Given the description of an element on the screen output the (x, y) to click on. 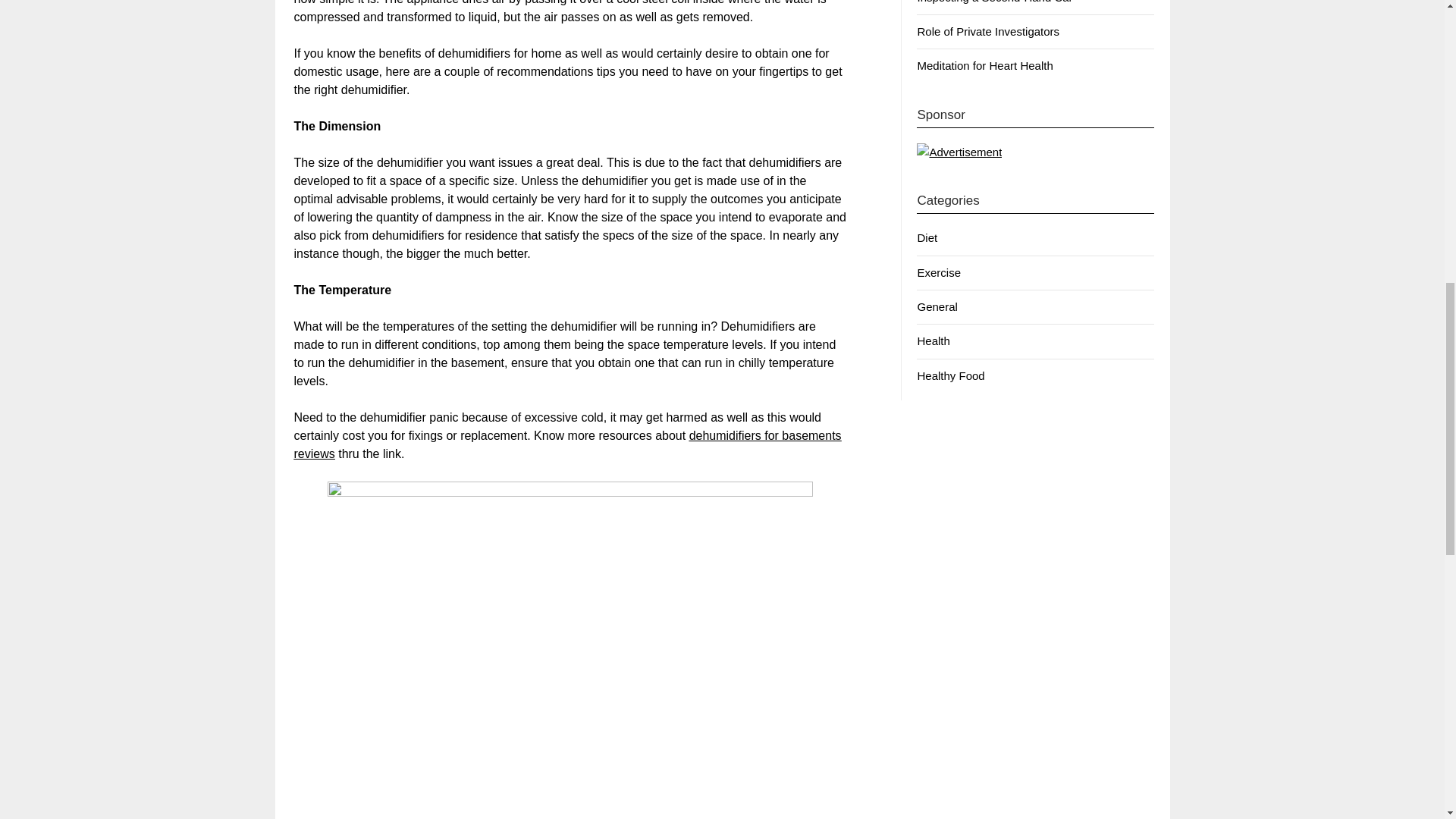
Diet (927, 237)
Health (933, 340)
General (936, 306)
Meditation for Heart Health (984, 65)
Role of Private Investigators (988, 31)
dehumidifiers for basements reviews (567, 444)
Inspecting a Second-Hand Car (994, 2)
Healthy Food (950, 375)
Exercise (938, 272)
